Given the description of an element on the screen output the (x, y) to click on. 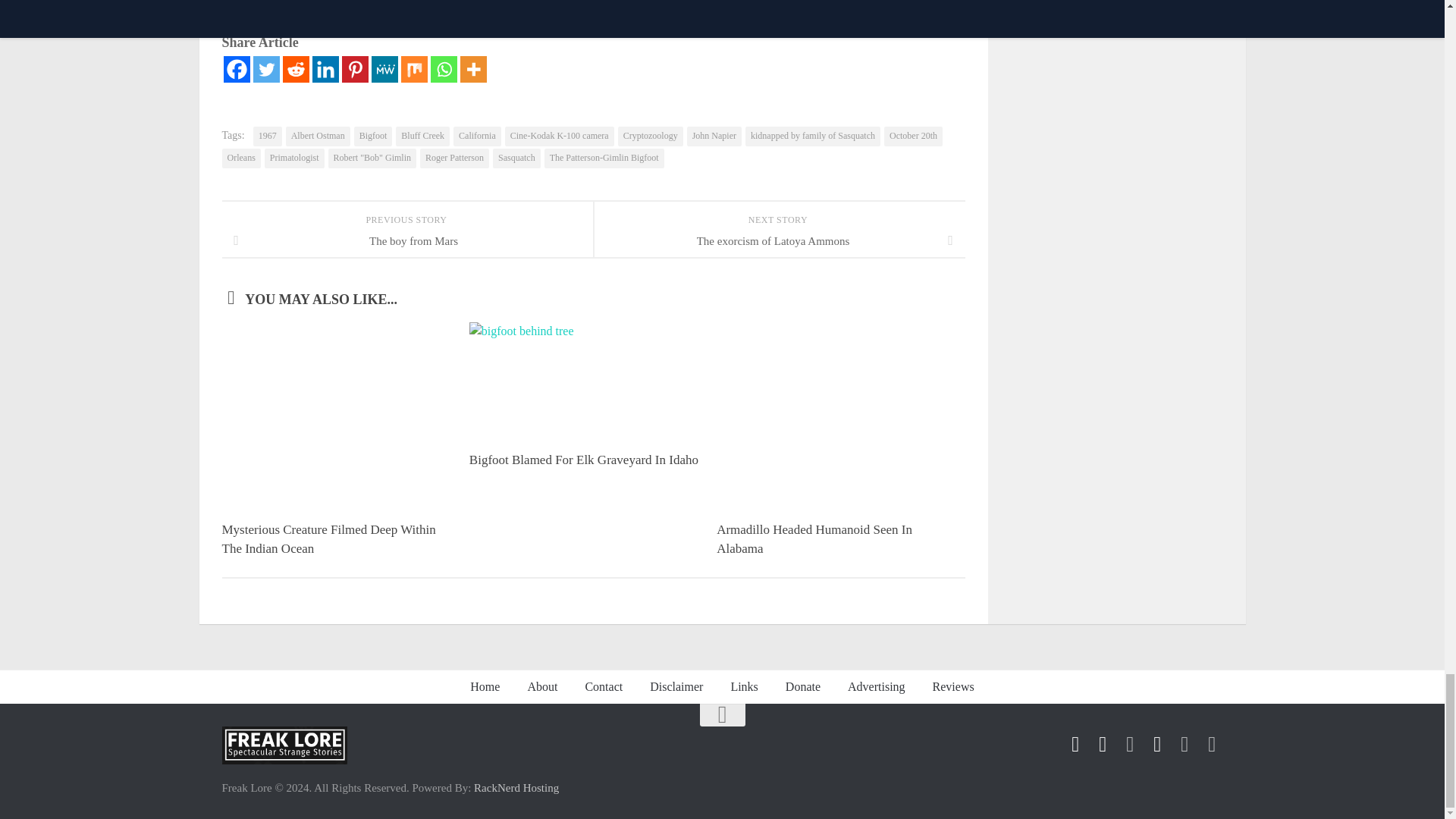
Twitter (266, 69)
Facebook (235, 69)
Reddit (295, 69)
